Given the description of an element on the screen output the (x, y) to click on. 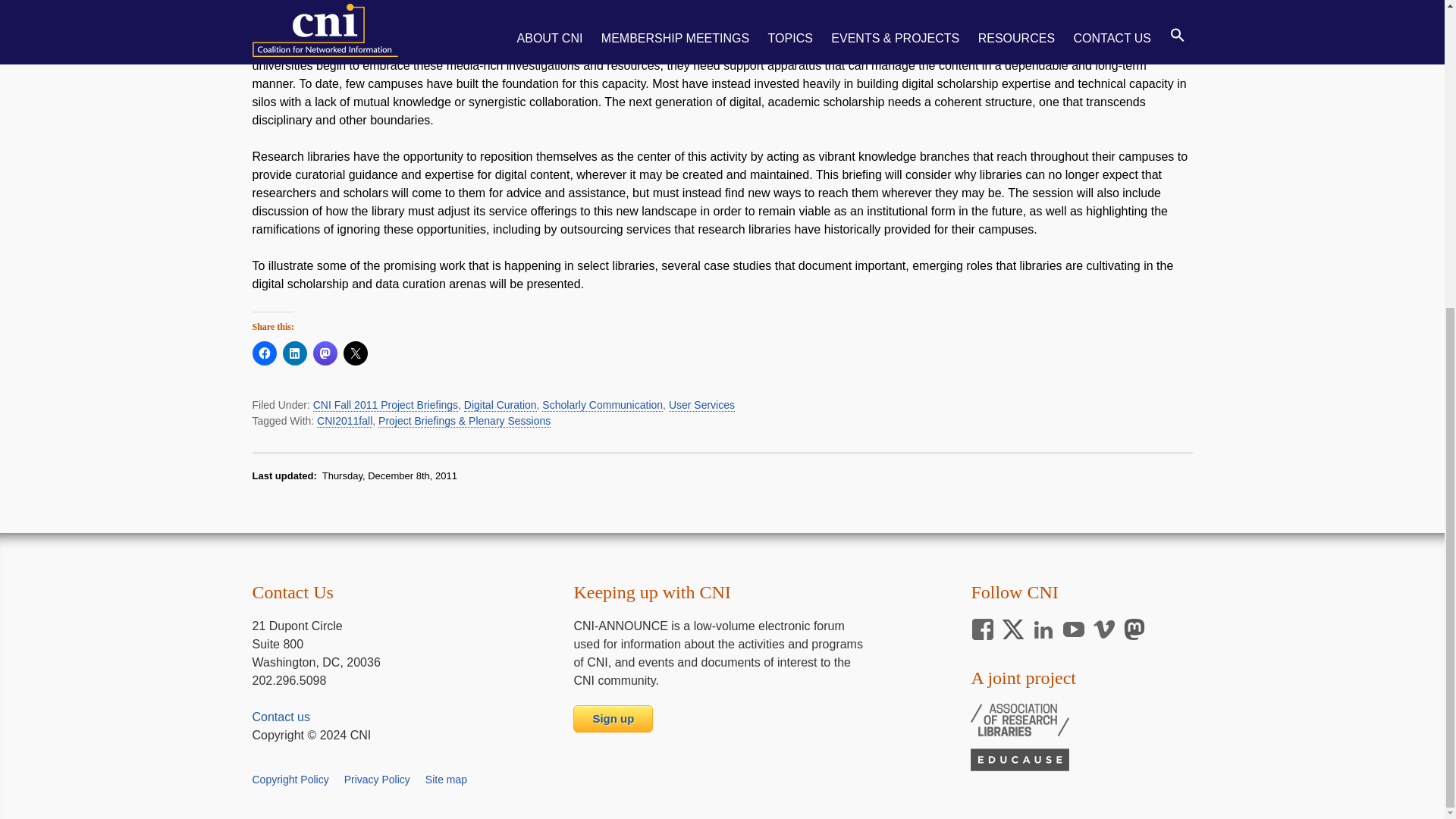
Click to share on Mastodon (324, 353)
CNI Fall 2011 Project Briefings (385, 404)
Click to share on X (354, 353)
Click to share on LinkedIn (293, 353)
Click to share on Facebook (263, 353)
